Given the description of an element on the screen output the (x, y) to click on. 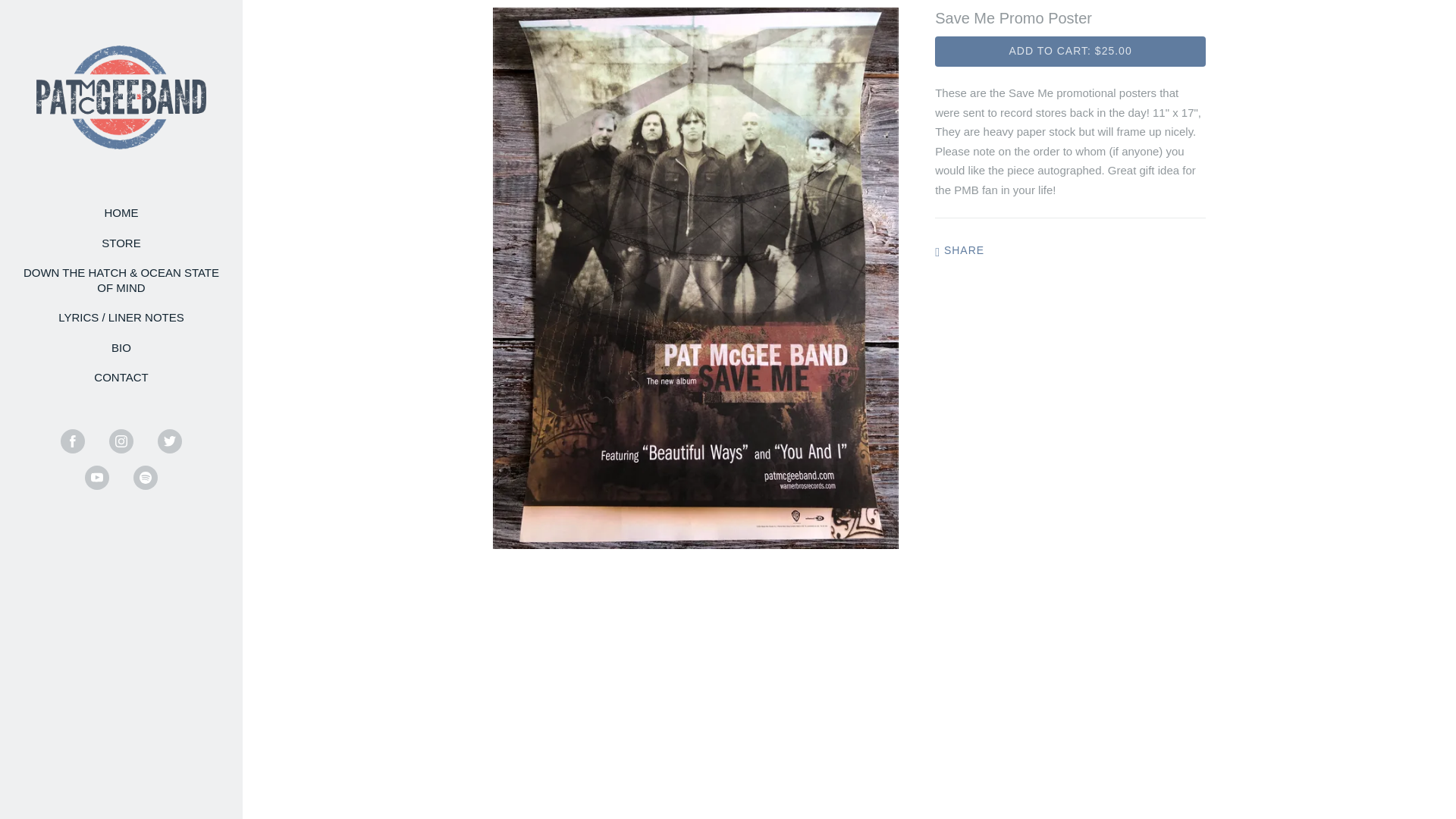
CONTACT (121, 377)
SHARE (959, 250)
BIO (121, 347)
HOME (121, 212)
STORE (120, 243)
Share Save Me Promo Poster (959, 250)
